Given the description of an element on the screen output the (x, y) to click on. 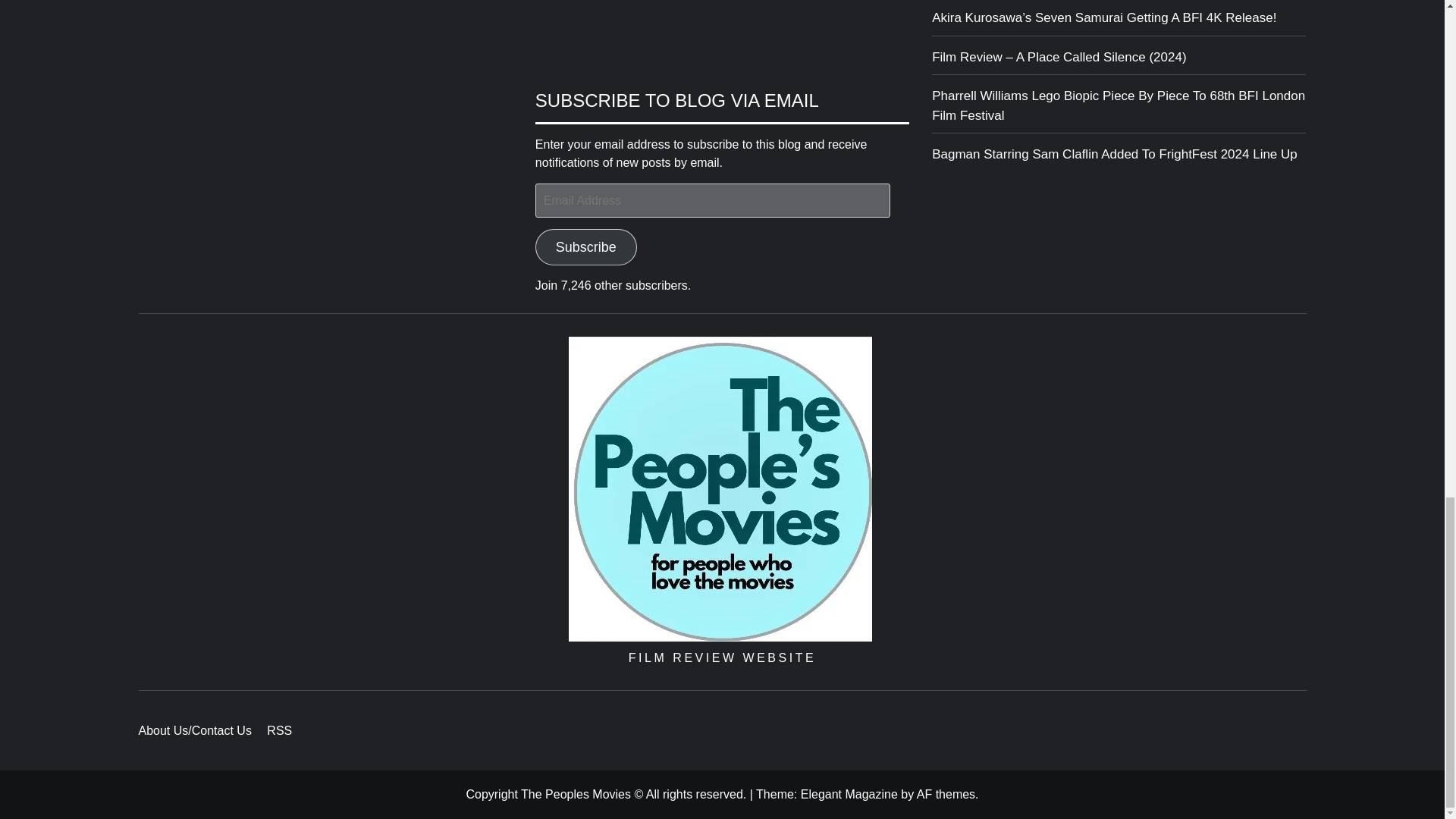
Bagman Starring Sam Claflin Added To FrightFest 2024 Line Up (1118, 157)
Subscribe (586, 247)
